Given the description of an element on the screen output the (x, y) to click on. 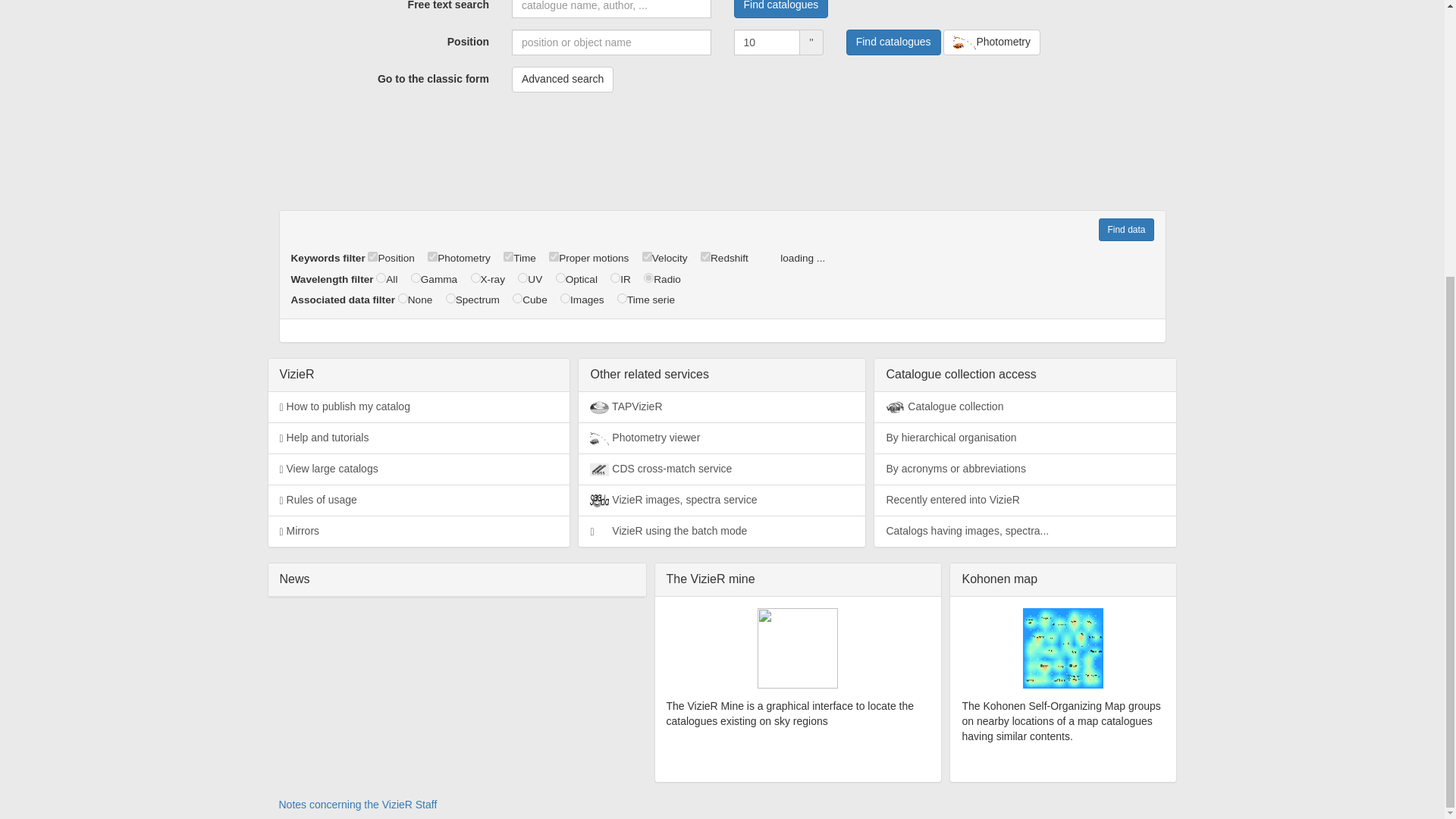
option3 (508, 256)
VizieR images, spectra service (721, 500)
option4 (615, 277)
Find data (1126, 229)
option3 (522, 277)
Query all selected catalogues (1126, 229)
By acronyms or abbreviations (1025, 469)
Rules of usage (418, 500)
Help and tutorials (418, 438)
option5 (647, 256)
